Given the description of an element on the screen output the (x, y) to click on. 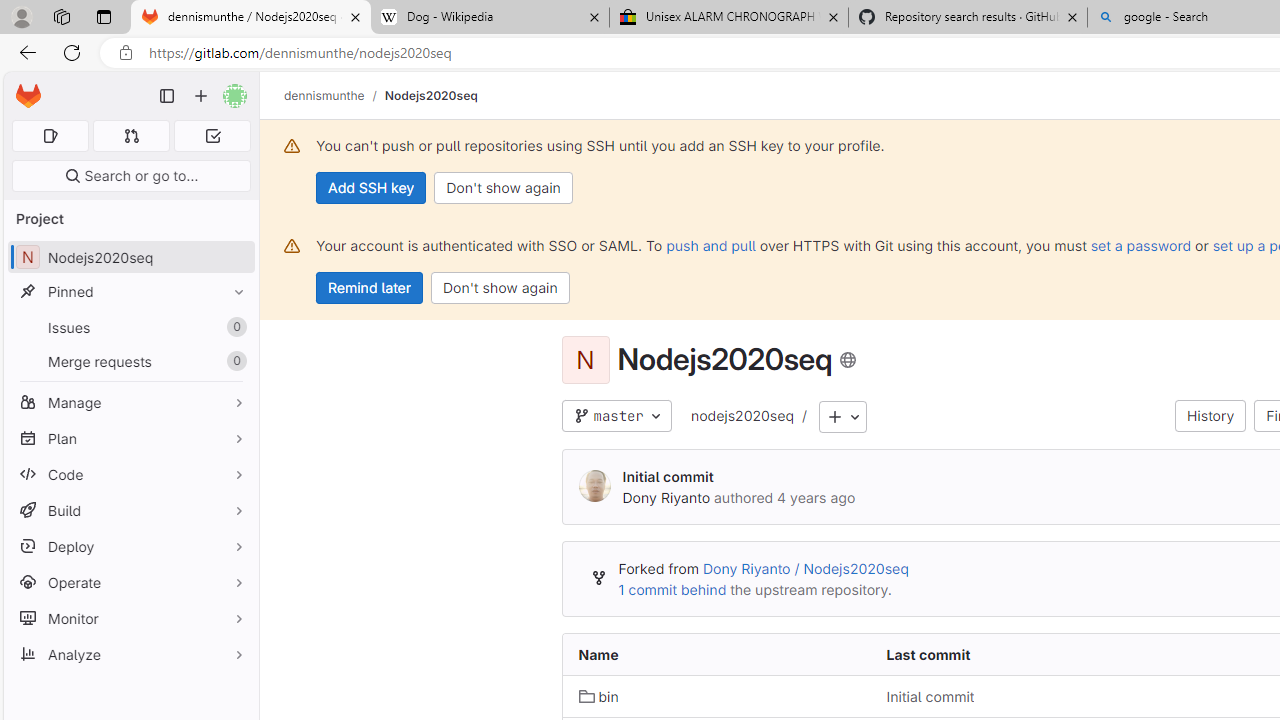
Build (130, 510)
Build (130, 510)
Unpin Issues (234, 327)
Merge requests 0 (130, 361)
Refresh (72, 52)
NNodejs2020seq (130, 257)
Issues 0 (130, 327)
nodejs2020seq (741, 417)
Class: s16 icon (848, 359)
Tab actions menu (104, 16)
Pinned (130, 291)
Add SSH key (371, 187)
Code (130, 474)
Code (130, 474)
